Given the description of an element on the screen output the (x, y) to click on. 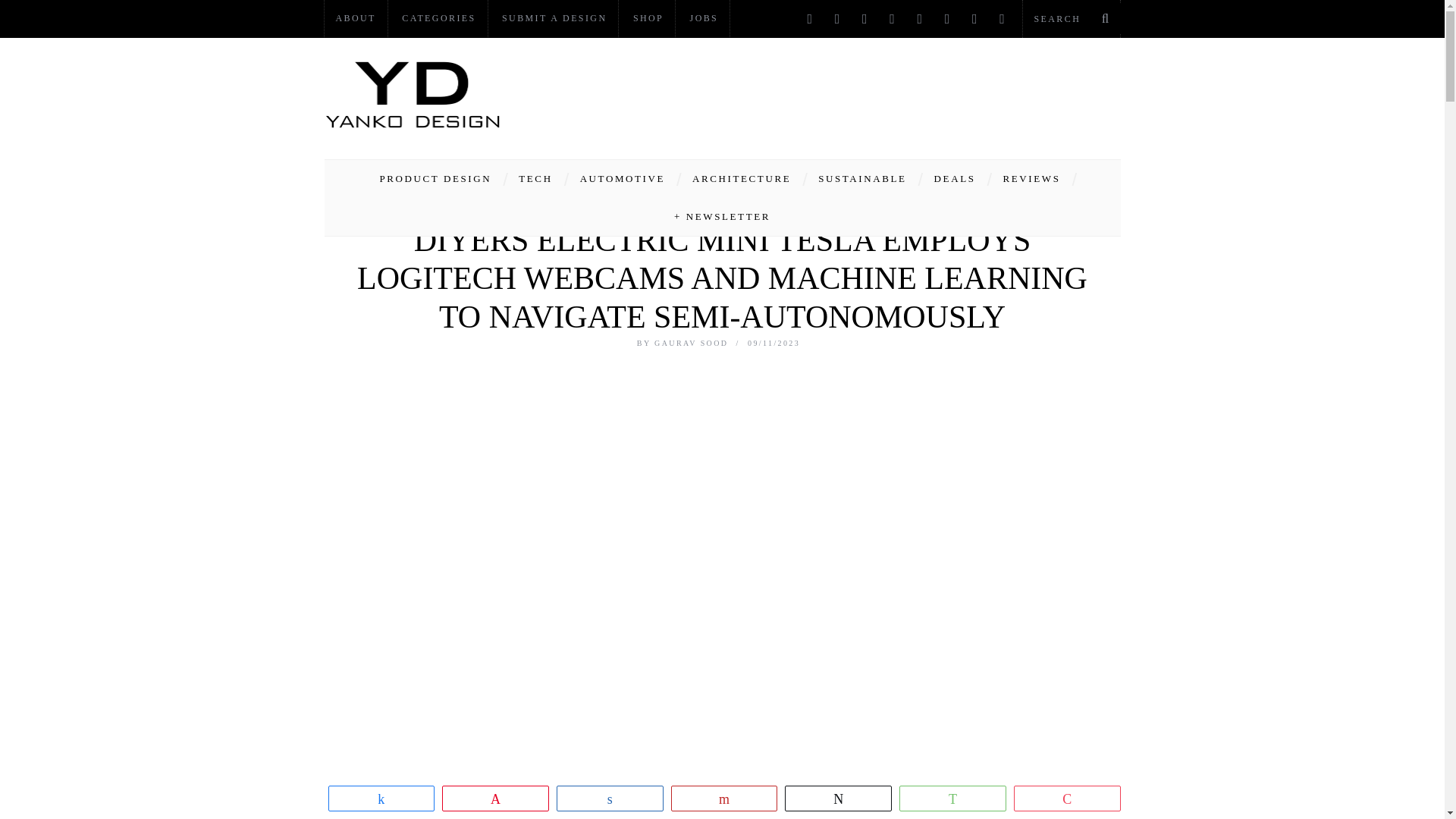
Advertisement (845, 94)
Search (1071, 18)
